Given the description of an element on the screen output the (x, y) to click on. 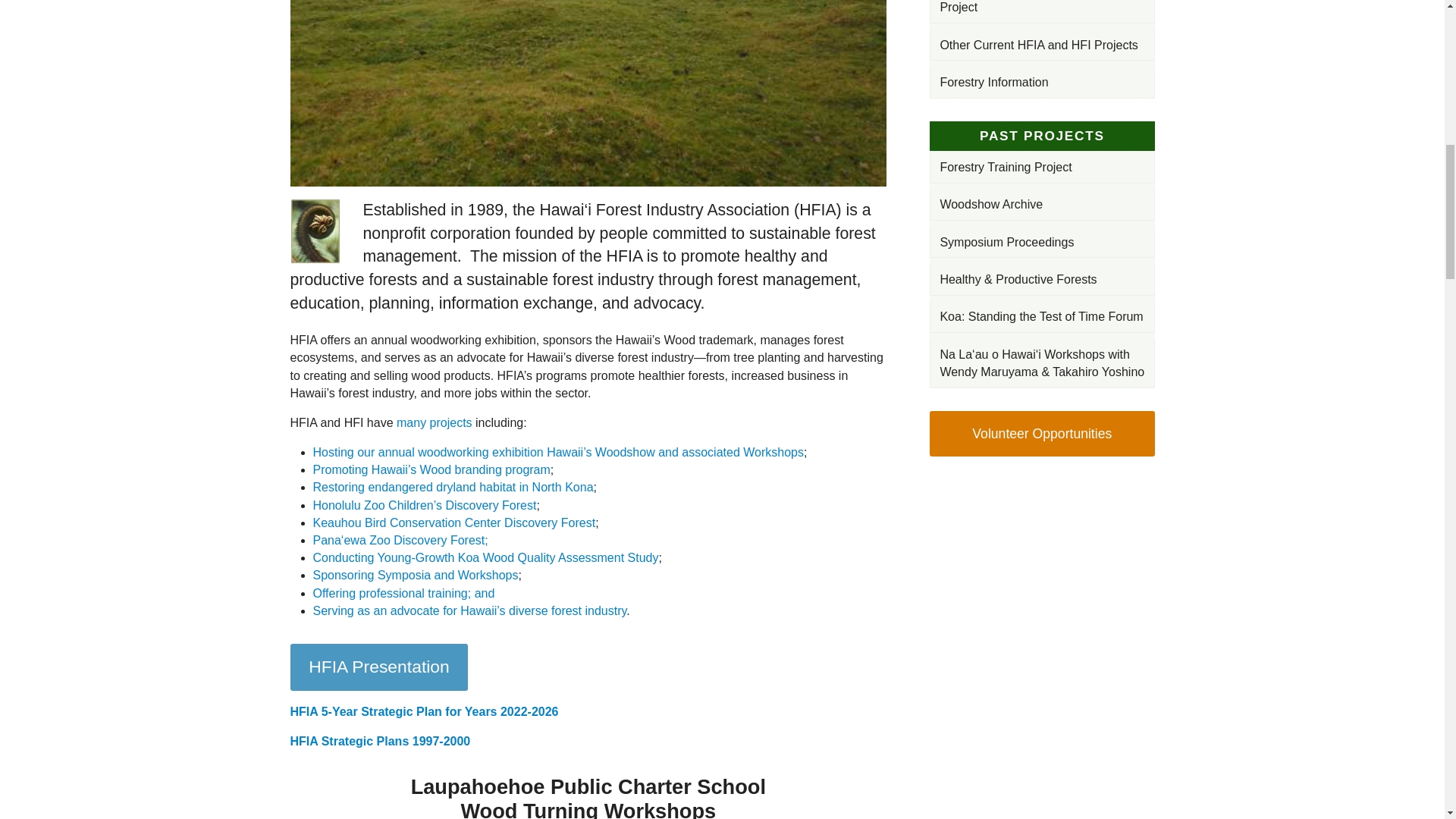
many projects (433, 422)
Sponsoring Symposia and Workshops (415, 574)
Offering professional training; and (404, 593)
Restoring endangered dryland habitat in North Kona (452, 486)
Keauhou Bird Conservation Center Discovery Forest (454, 522)
Conducting Young-Growth Koa Wood Quality Assessment Study (485, 557)
